Given the description of an element on the screen output the (x, y) to click on. 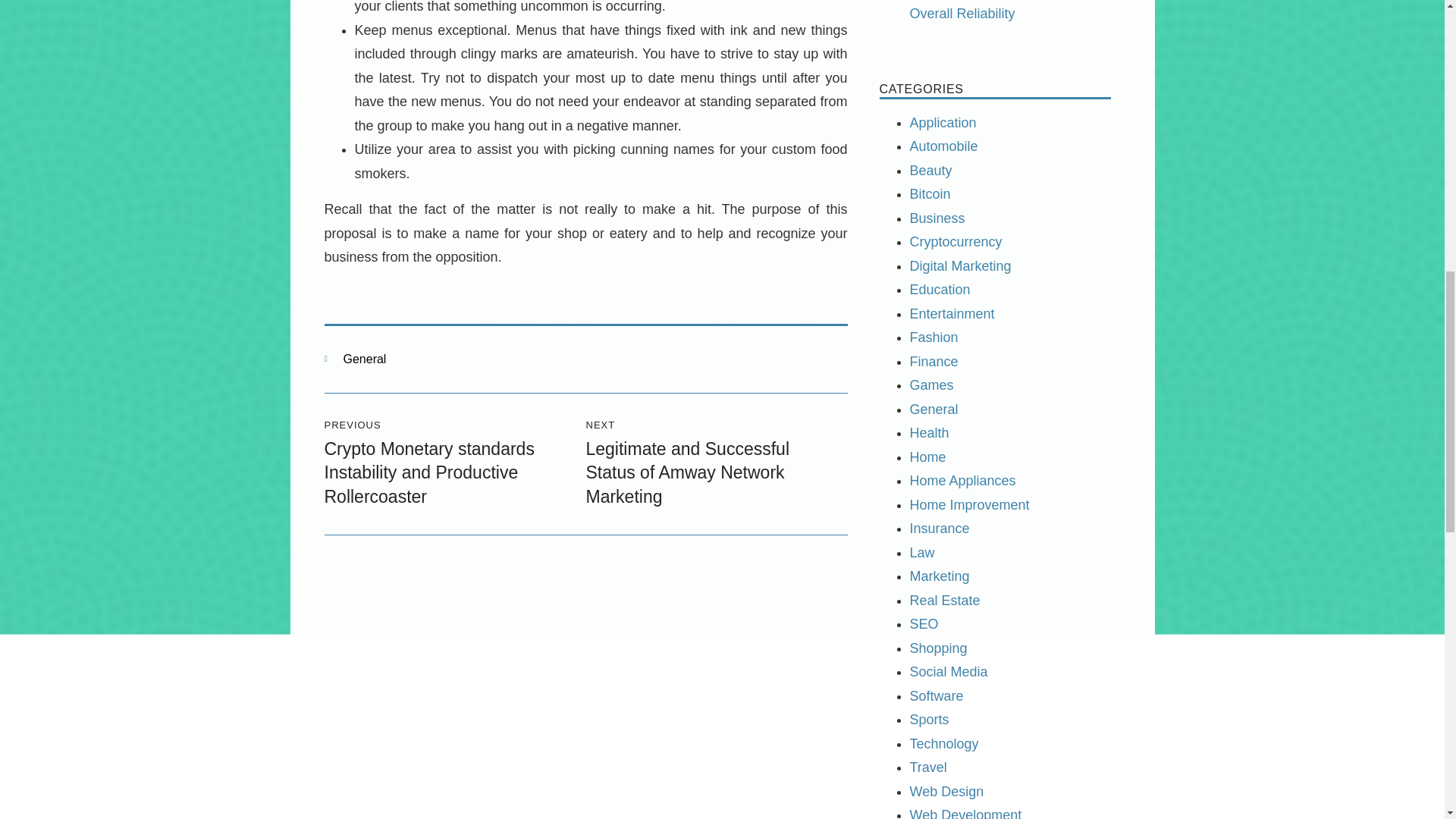
Shopping (939, 648)
Games (931, 385)
Home (928, 457)
SEO (924, 623)
General (934, 409)
Sports (929, 719)
Social Media (949, 671)
Cryptocurrency (956, 241)
Entertainment (952, 313)
Digital Marketing (960, 265)
Fashion (934, 337)
General (363, 358)
Law (922, 552)
Insurance (939, 528)
